Given the description of an element on the screen output the (x, y) to click on. 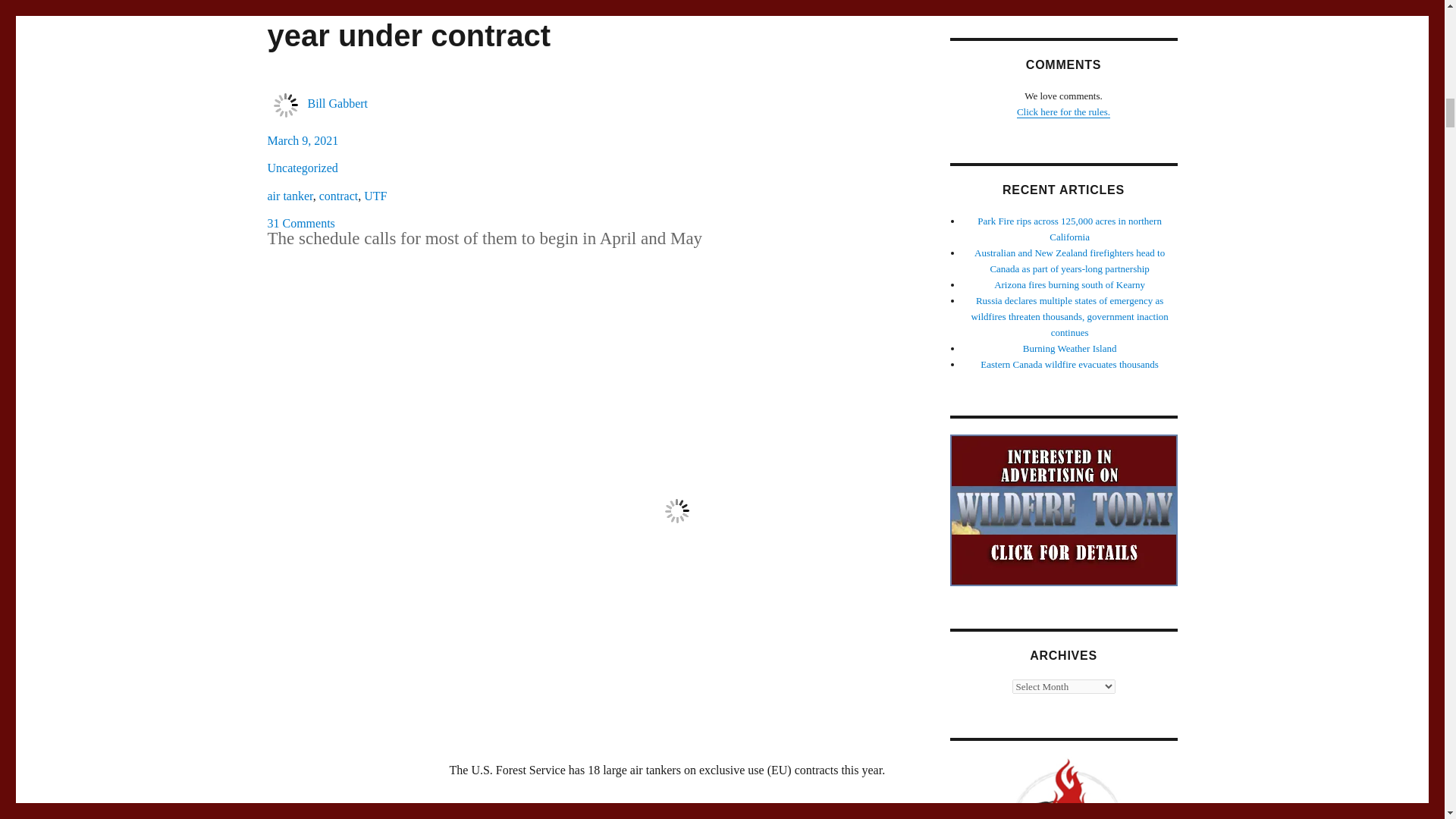
March 9, 2021 (301, 140)
Bill Gabbert (337, 103)
Uncategorized (301, 167)
